Given the description of an element on the screen output the (x, y) to click on. 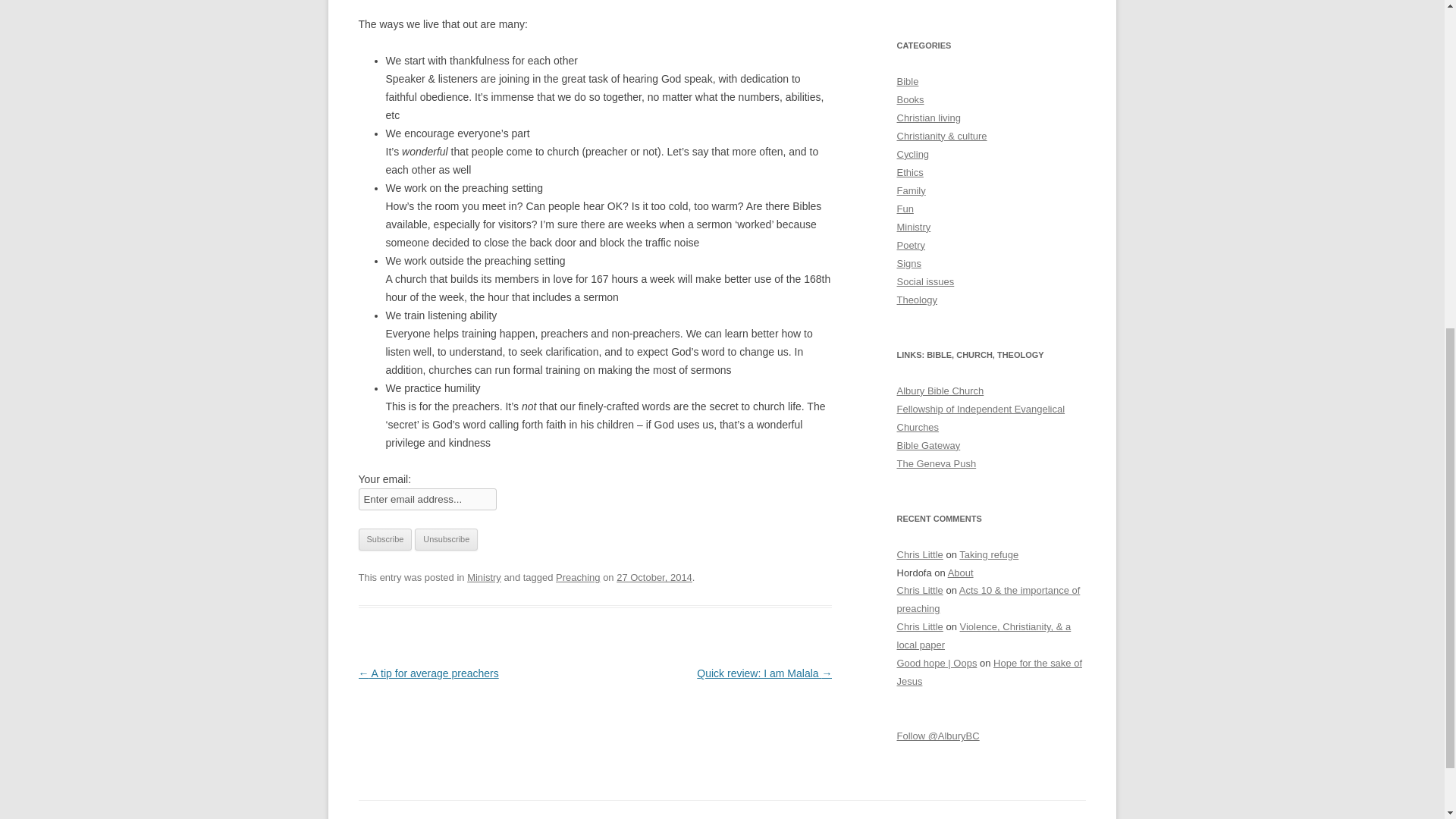
Signs (908, 263)
Preaching (577, 577)
Unsubscribe (445, 539)
Bible (907, 81)
10:13 am (654, 577)
Family (910, 190)
Ministry (913, 226)
Ethics (909, 172)
Poetry (910, 244)
Cycling (912, 153)
Social issues (924, 281)
Fun (904, 208)
Subscribe (385, 539)
Christian living (927, 117)
27 October, 2014 (654, 577)
